Given the description of an element on the screen output the (x, y) to click on. 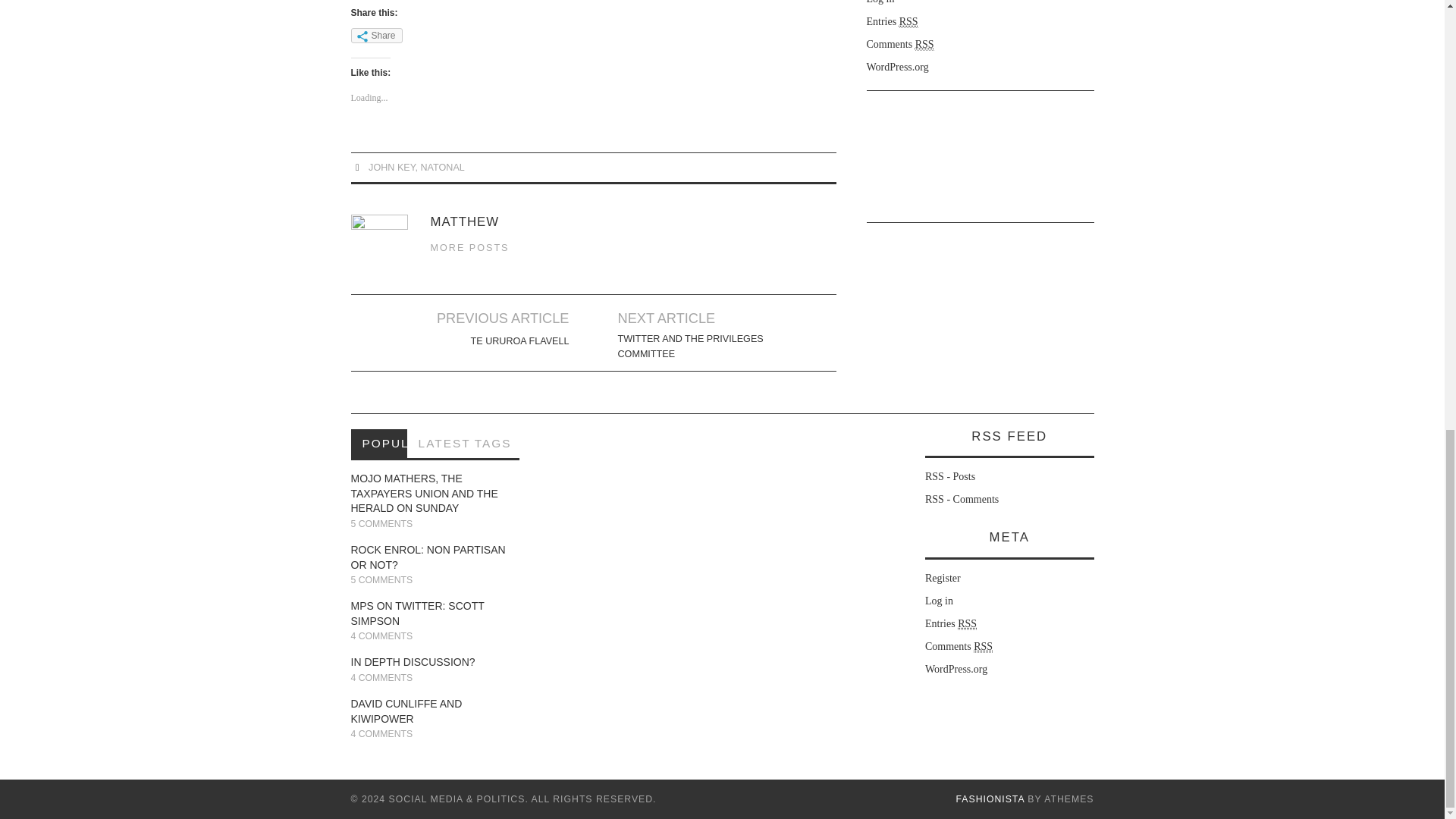
TE URUROA FLAVELL (519, 340)
Rock Enrol: Non Partisan or not? (427, 556)
TWITTER AND THE PRIVILEGES COMMITTEE (702, 346)
NATONAL (442, 167)
Really Simple Syndication (908, 21)
Mojo Mathers, The Taxpayers Union and The Herald on Sunday (423, 493)
MPs on Twitter: Scott Simpson (416, 613)
Share (375, 35)
David Cunliffe and Kiwipower (405, 710)
MORE POSTS (469, 246)
